Given the description of an element on the screen output the (x, y) to click on. 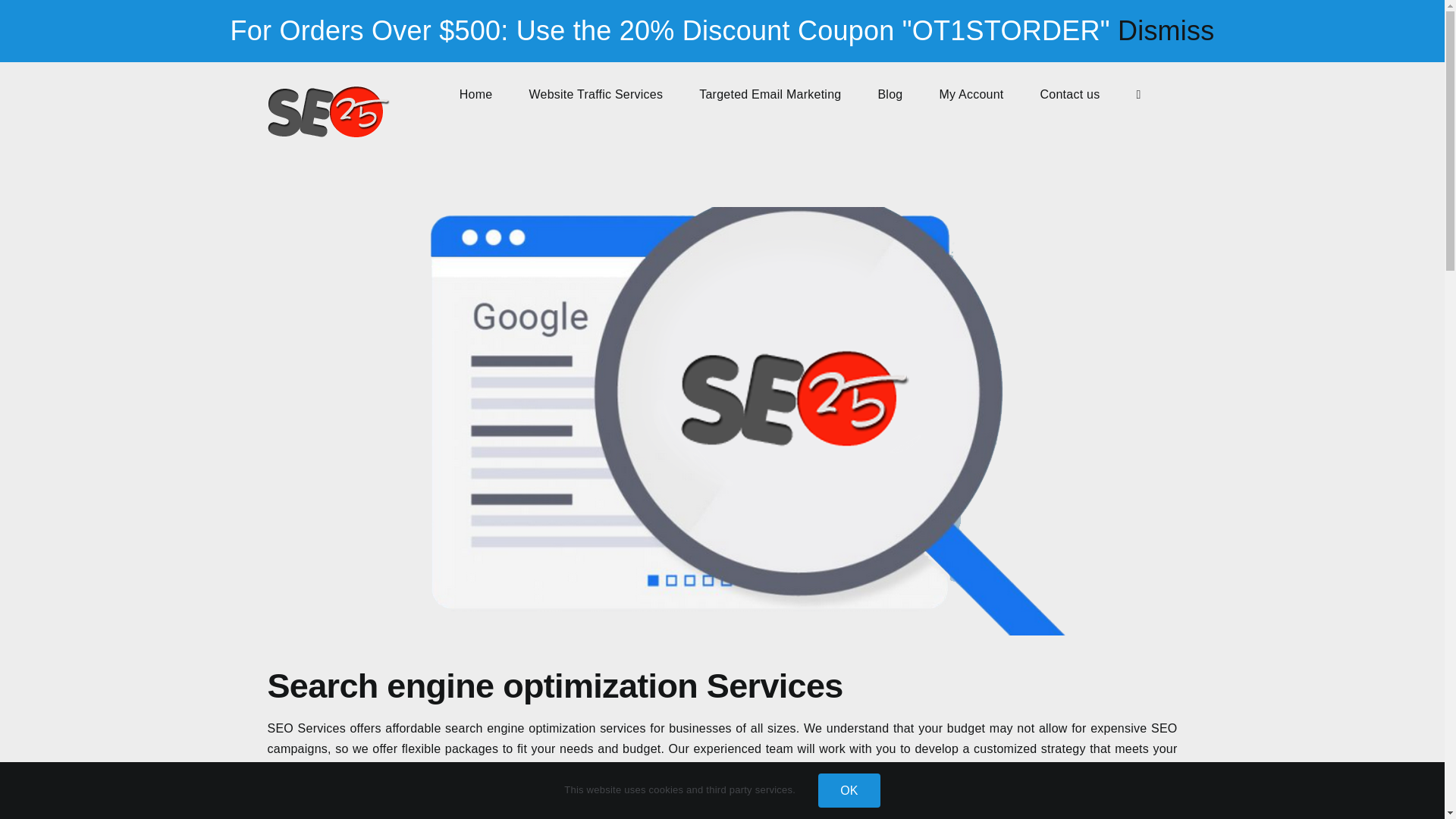
Targeted Email Marketing (769, 94)
Website Traffic Services (595, 94)
My Account (971, 94)
Contact us (1070, 94)
